Given the description of an element on the screen output the (x, y) to click on. 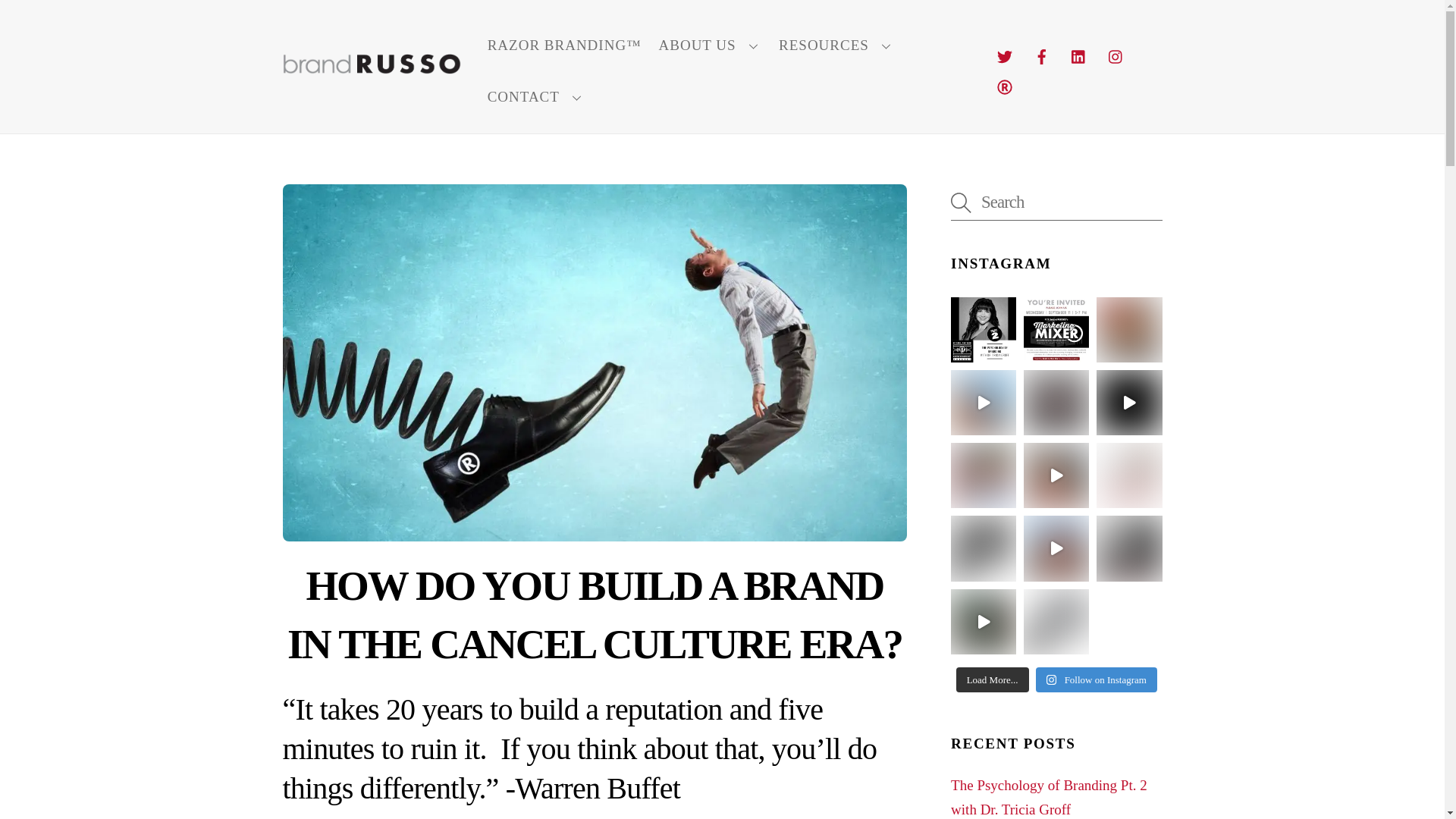
brandRUSSO (371, 65)
Search (1055, 202)
ABOUT US (709, 45)
CONTACT (536, 96)
RESOURCES (836, 45)
